Given the description of an element on the screen output the (x, y) to click on. 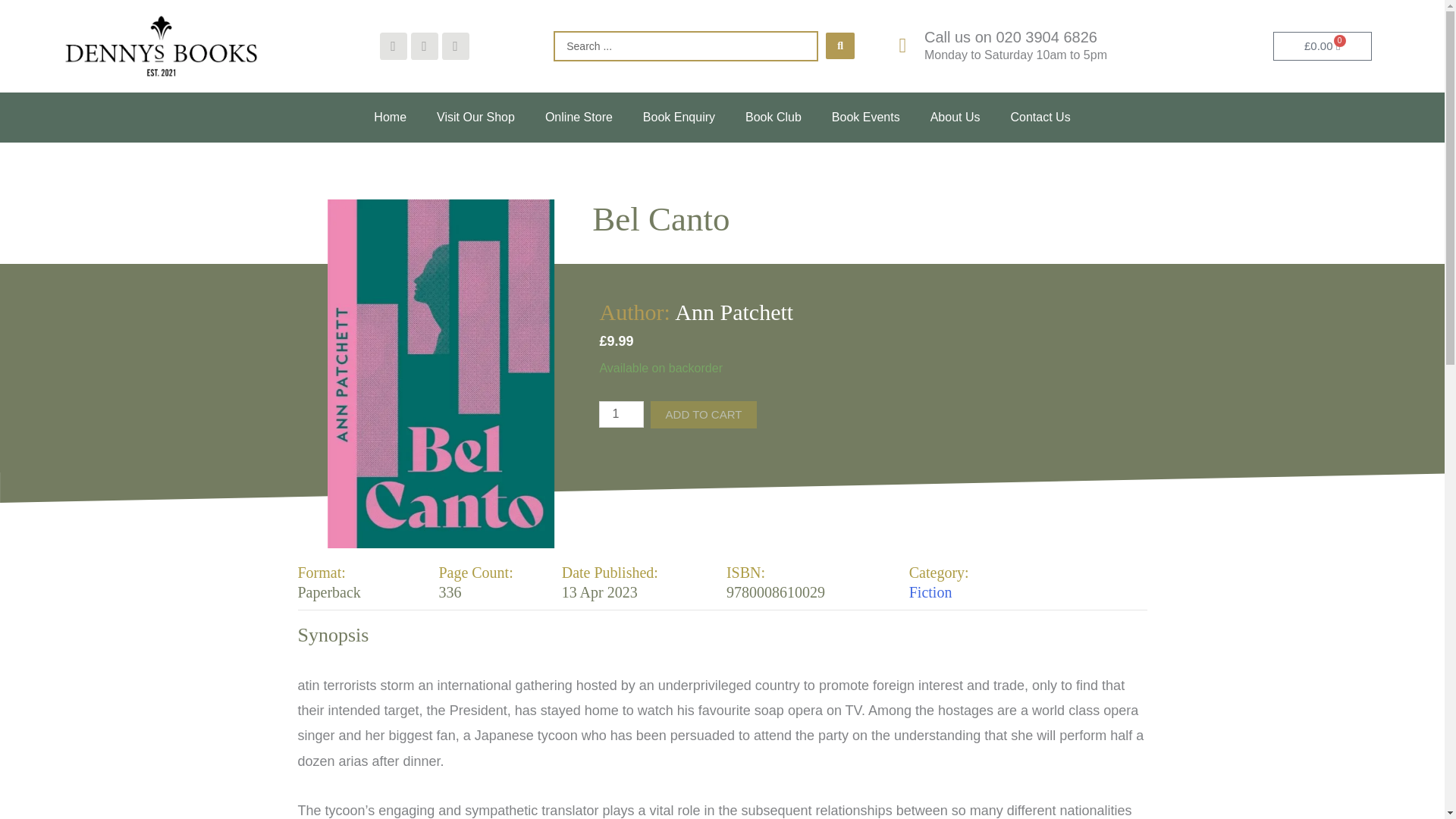
1 (620, 414)
Book Enquiry (678, 117)
Book Club (773, 117)
Visit Our Shop (475, 117)
Book Events (865, 117)
Contact Us (1039, 117)
Home (390, 117)
Online Store (578, 117)
About Us (955, 117)
